Given the description of an element on the screen output the (x, y) to click on. 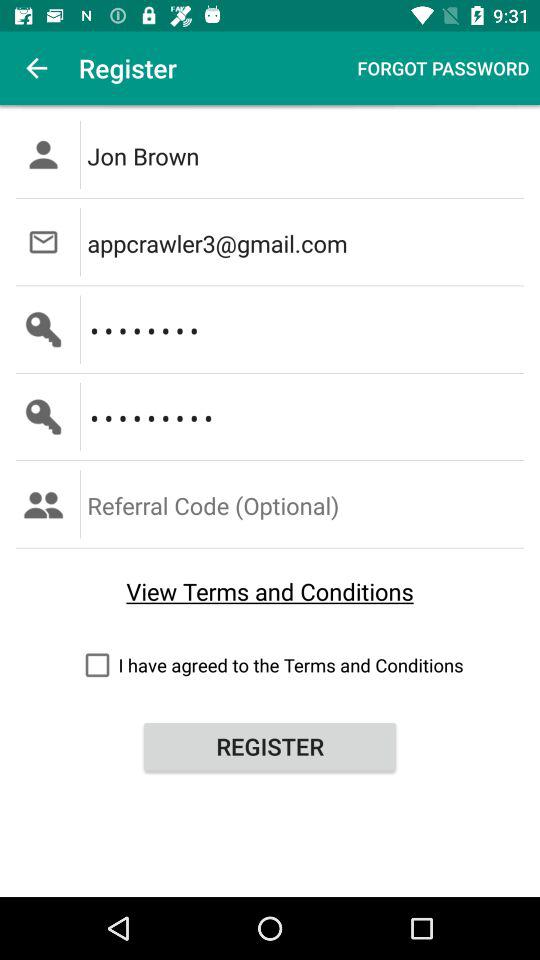
choose crowd316 item (306, 329)
